Given the description of an element on the screen output the (x, y) to click on. 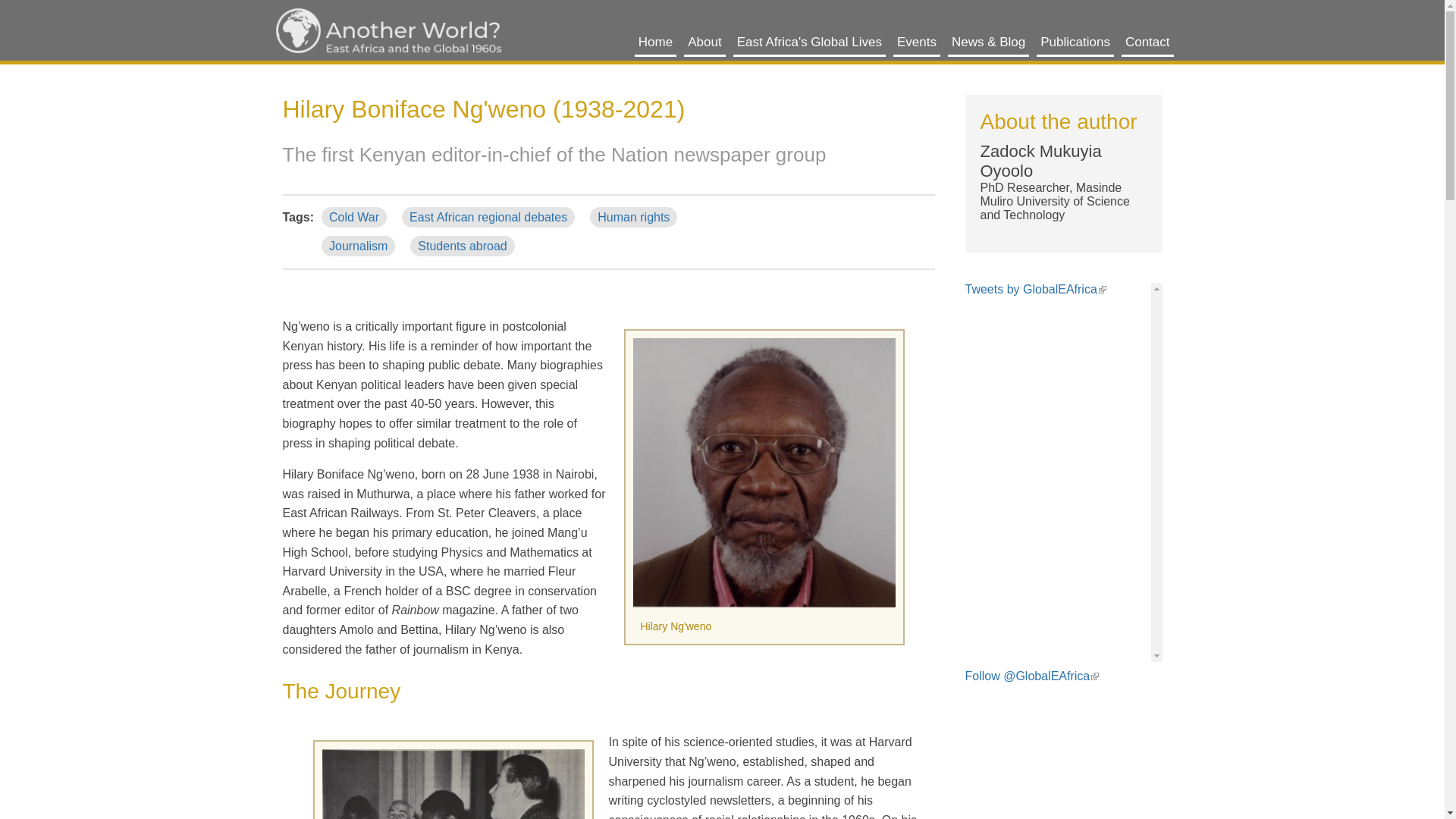
Human rights (633, 217)
About the project (704, 42)
Events (916, 42)
Contact (1147, 42)
East African regional debates (488, 217)
East Africa's Global Lives (809, 42)
Contact (1147, 42)
Home (655, 42)
Home (388, 31)
Journalism (357, 245)
East Africa's Global Lives (809, 42)
About (704, 42)
Cold War (354, 217)
Publications (1074, 42)
